Given the description of an element on the screen output the (x, y) to click on. 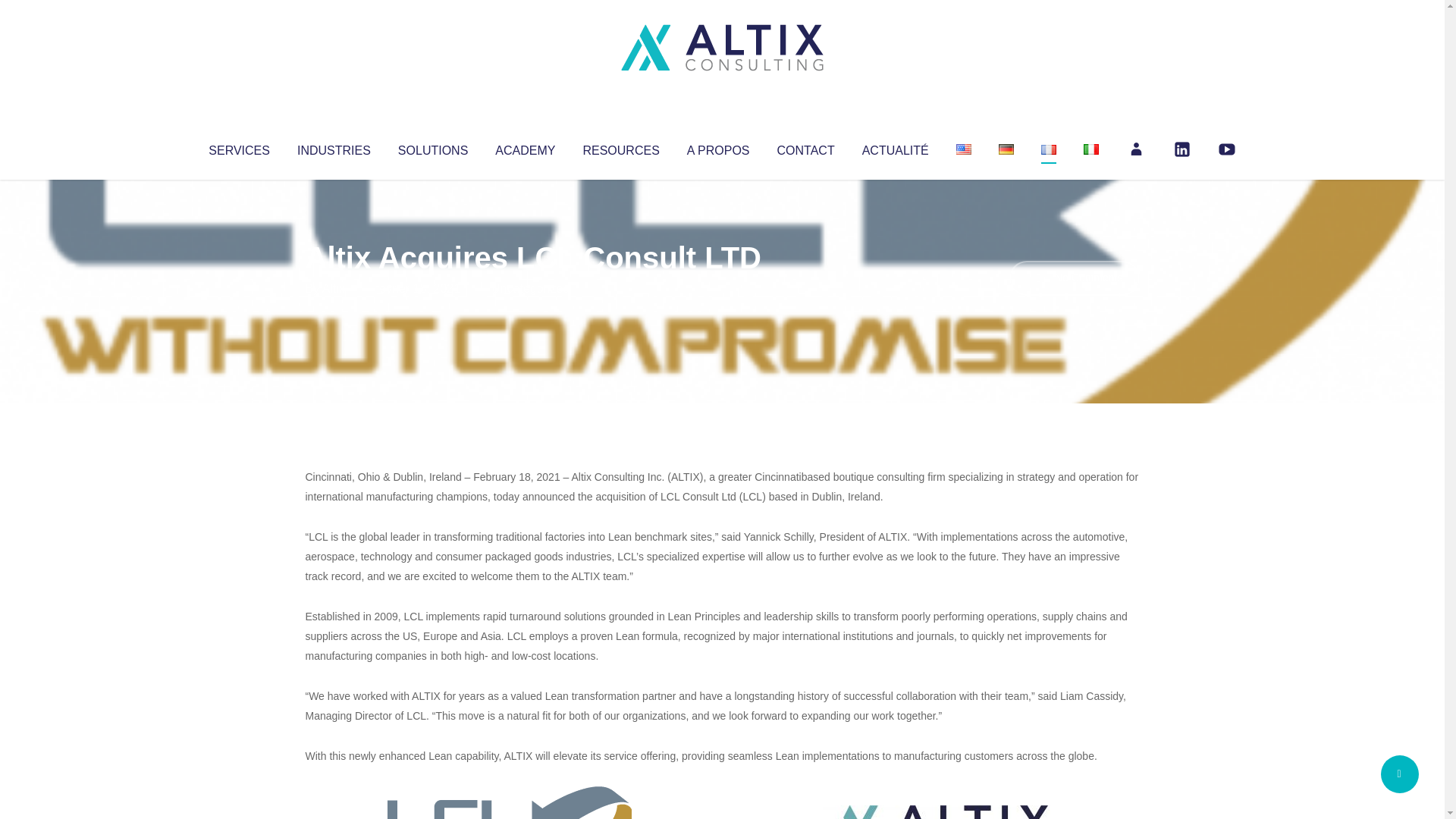
A PROPOS (718, 146)
No Comments (1073, 278)
Uncategorized (530, 287)
SOLUTIONS (432, 146)
Articles par Altix (333, 287)
RESOURCES (620, 146)
INDUSTRIES (334, 146)
Altix (333, 287)
ACADEMY (524, 146)
SERVICES (238, 146)
